Given the description of an element on the screen output the (x, y) to click on. 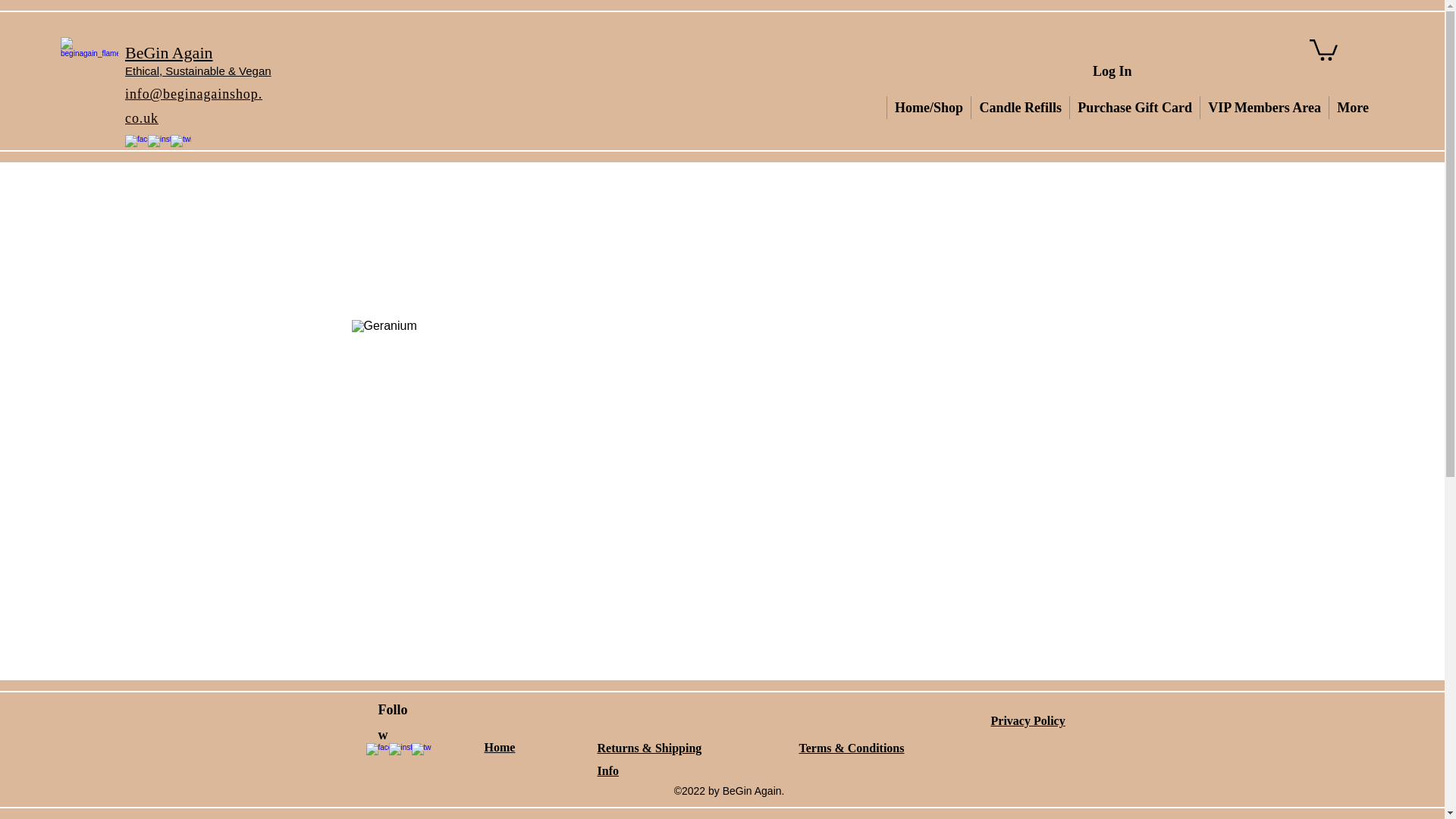
Purchase Gift Card (1133, 107)
VIP Members Area (1263, 107)
Candle Refills (1019, 107)
BeGin Again (168, 52)
Log In (1111, 71)
